Given the description of an element on the screen output the (x, y) to click on. 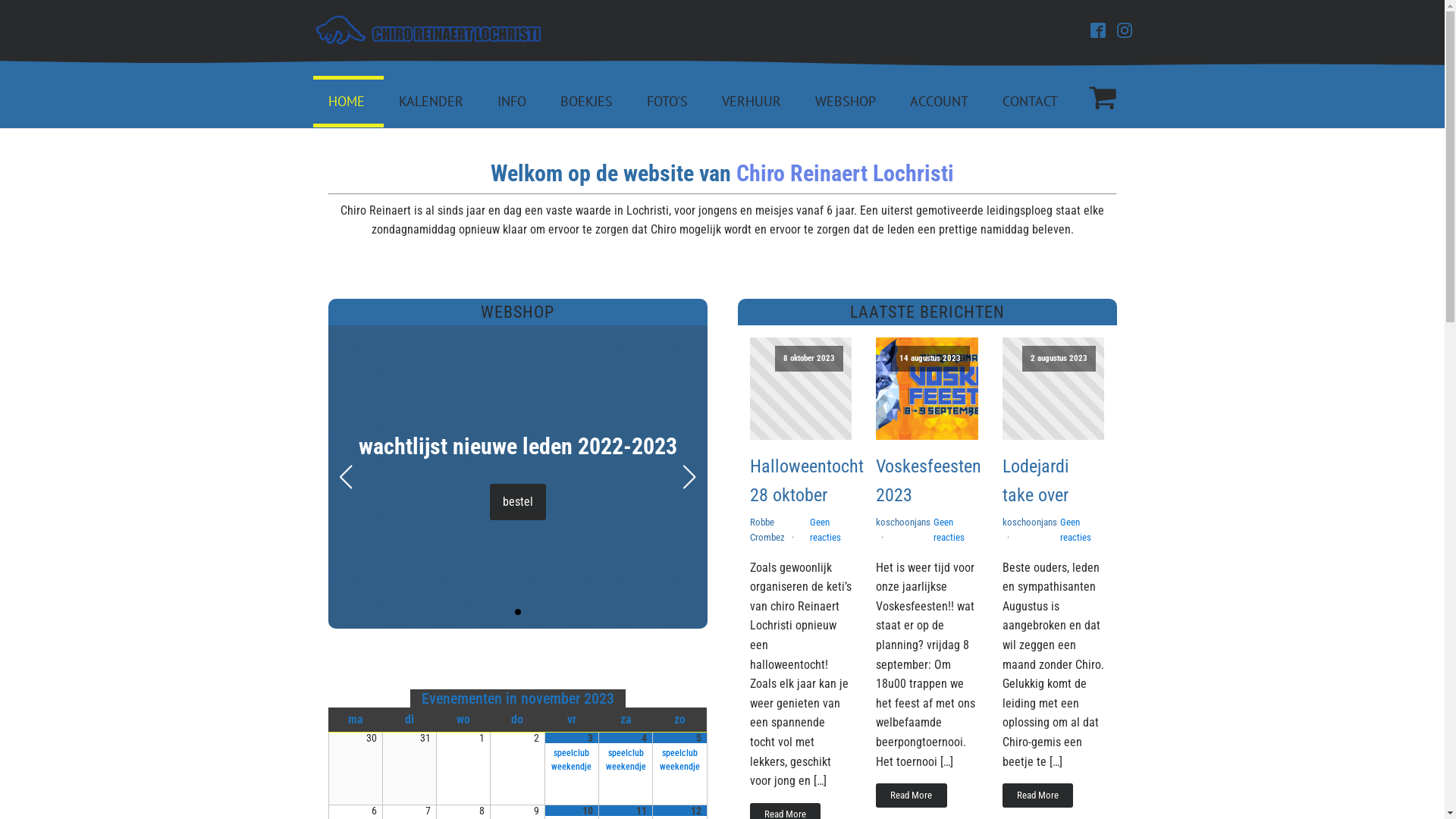
HOME Element type: text (347, 101)
Lodejardi take over Element type: text (1053, 480)
INFO Element type: text (513, 101)
CONTACT Element type: text (1031, 101)
KALENDER Element type: text (432, 101)
speelclub weekendje Element type: text (679, 759)
8 oktober 2023 Element type: text (800, 388)
Halloweentocht 28 oktober Element type: text (805, 480)
WEBSHOP Element type: text (846, 101)
Read More Element type: text (910, 795)
FOTO'S Element type: text (668, 101)
Voskesfeesten 2023 Element type: text (928, 480)
Geen reacties Element type: text (948, 529)
2 augustus 2023 Element type: text (1053, 388)
BOEKJES Element type: text (587, 101)
ACCOUNT Element type: text (940, 101)
bestel Element type: text (517, 501)
VERHUUR Element type: text (753, 101)
14 augustus 2023 Element type: text (926, 388)
speelclub weekendje Element type: text (571, 759)
speelclub weekendje Element type: text (625, 759)
Geen reacties Element type: text (824, 529)
Geen reacties Element type: text (1075, 529)
Read More Element type: text (1037, 795)
